Given the description of an element on the screen output the (x, y) to click on. 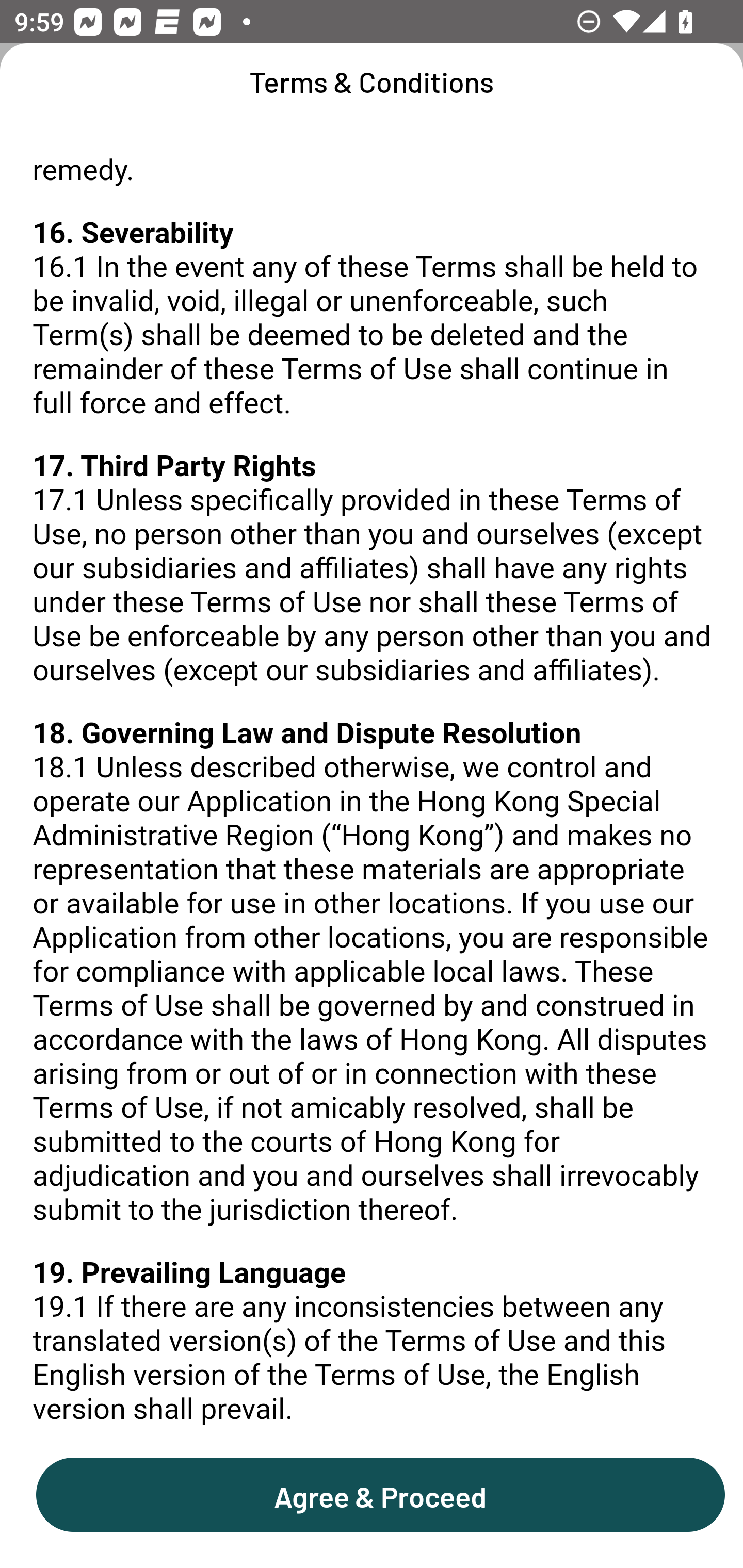
Agree & Proceed (380, 1494)
